Given the description of an element on the screen output the (x, y) to click on. 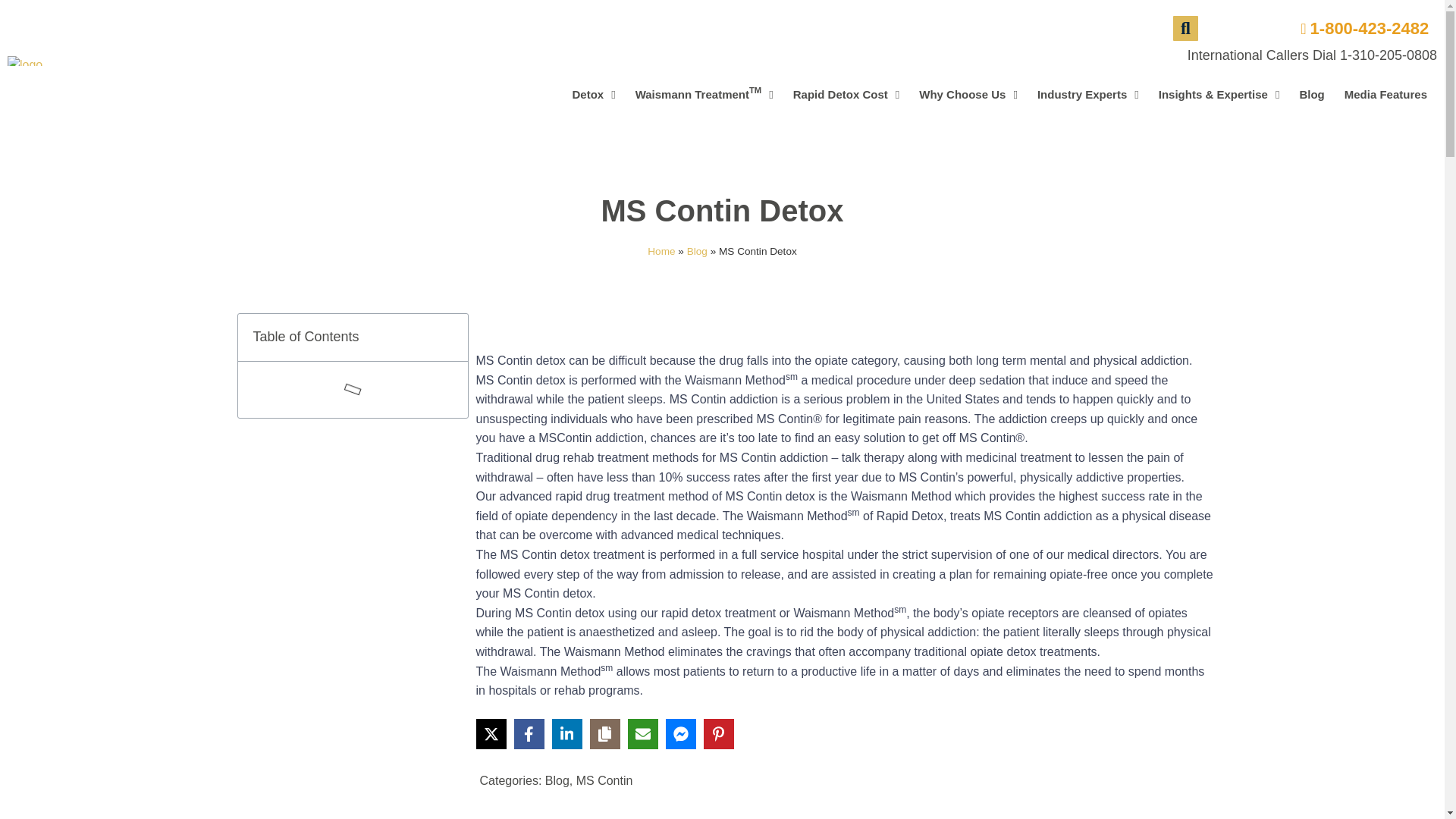
Rapid Detox Cost (846, 94)
1-310-205-0808 (1388, 55)
Detox (704, 94)
1-800-423-2482 (593, 94)
Why Choose Us (1358, 27)
